Given the description of an element on the screen output the (x, y) to click on. 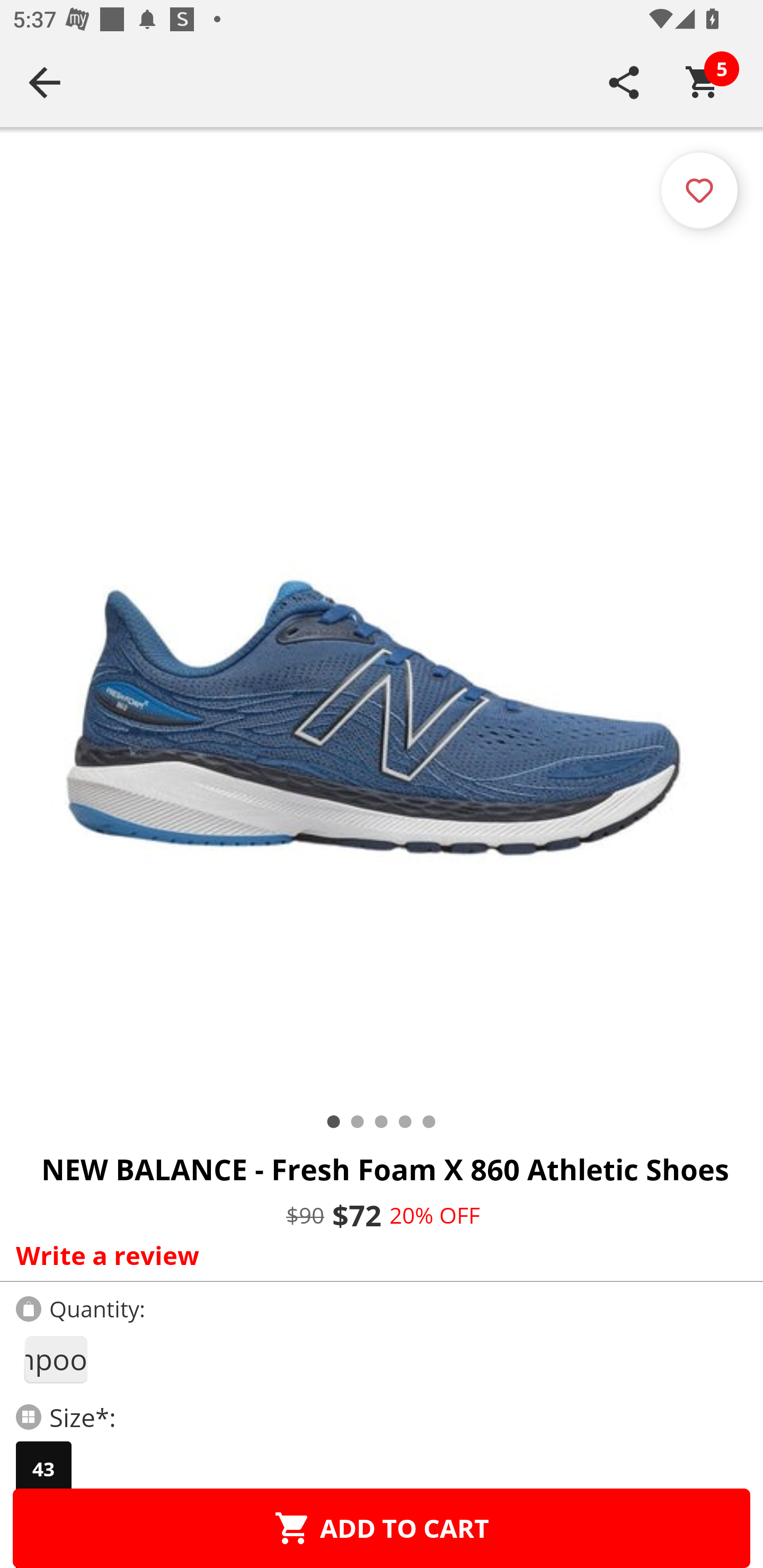
Navigate up (44, 82)
SHARE (623, 82)
Cart (703, 81)
Write a review (377, 1255)
1shampoo (55, 1358)
43 (43, 1468)
ADD TO CART (381, 1528)
